Given the description of an element on the screen output the (x, y) to click on. 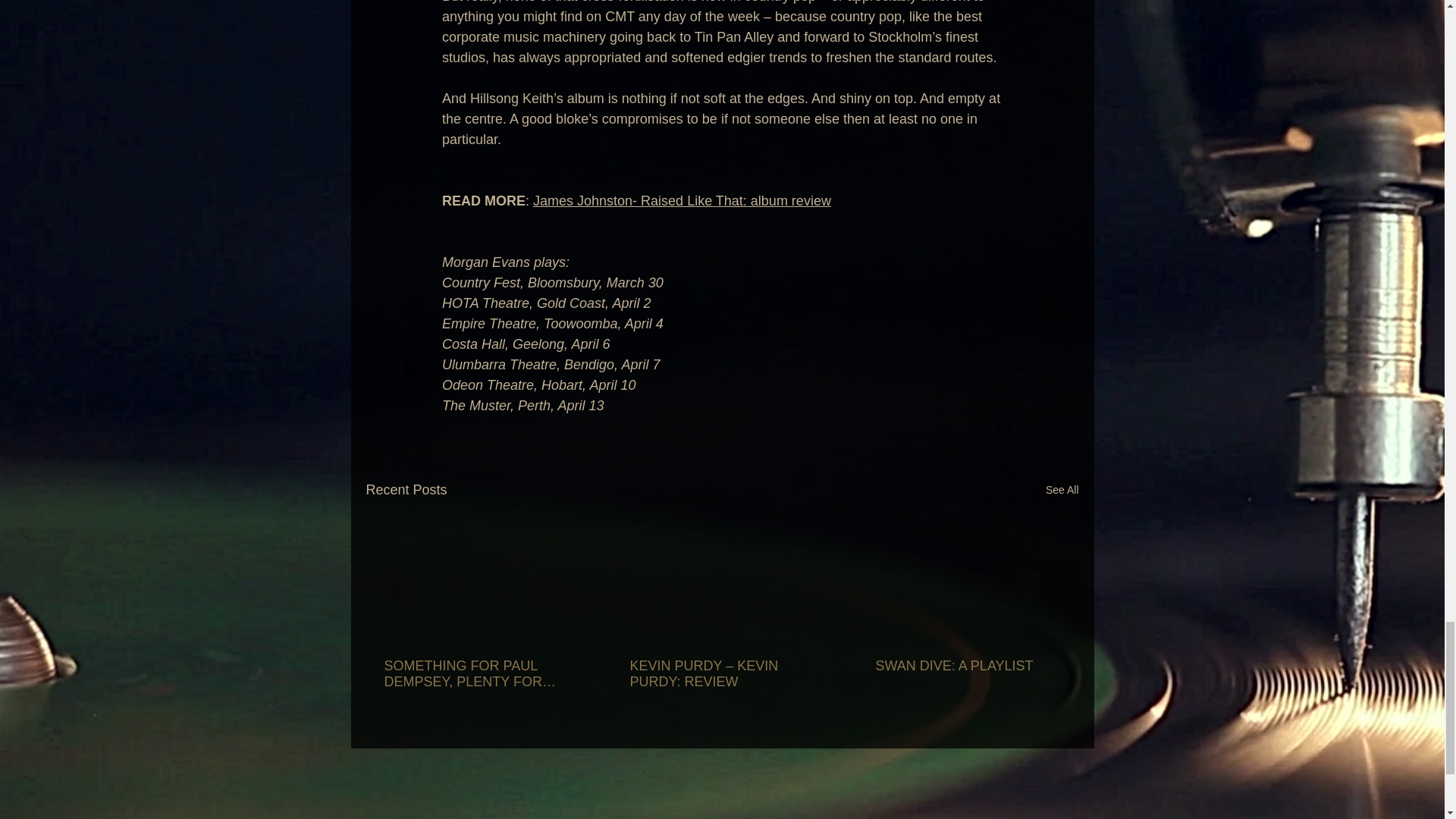
SWAN DIVE: A PLAYLIST (966, 666)
See All (1061, 490)
James Johnston- Raised Like That: album review (681, 200)
SOMETHING FOR PAUL DEMPSEY, PLENTY FOR WIND BACK WEDNESDAY (475, 674)
